Given the description of an element on the screen output the (x, y) to click on. 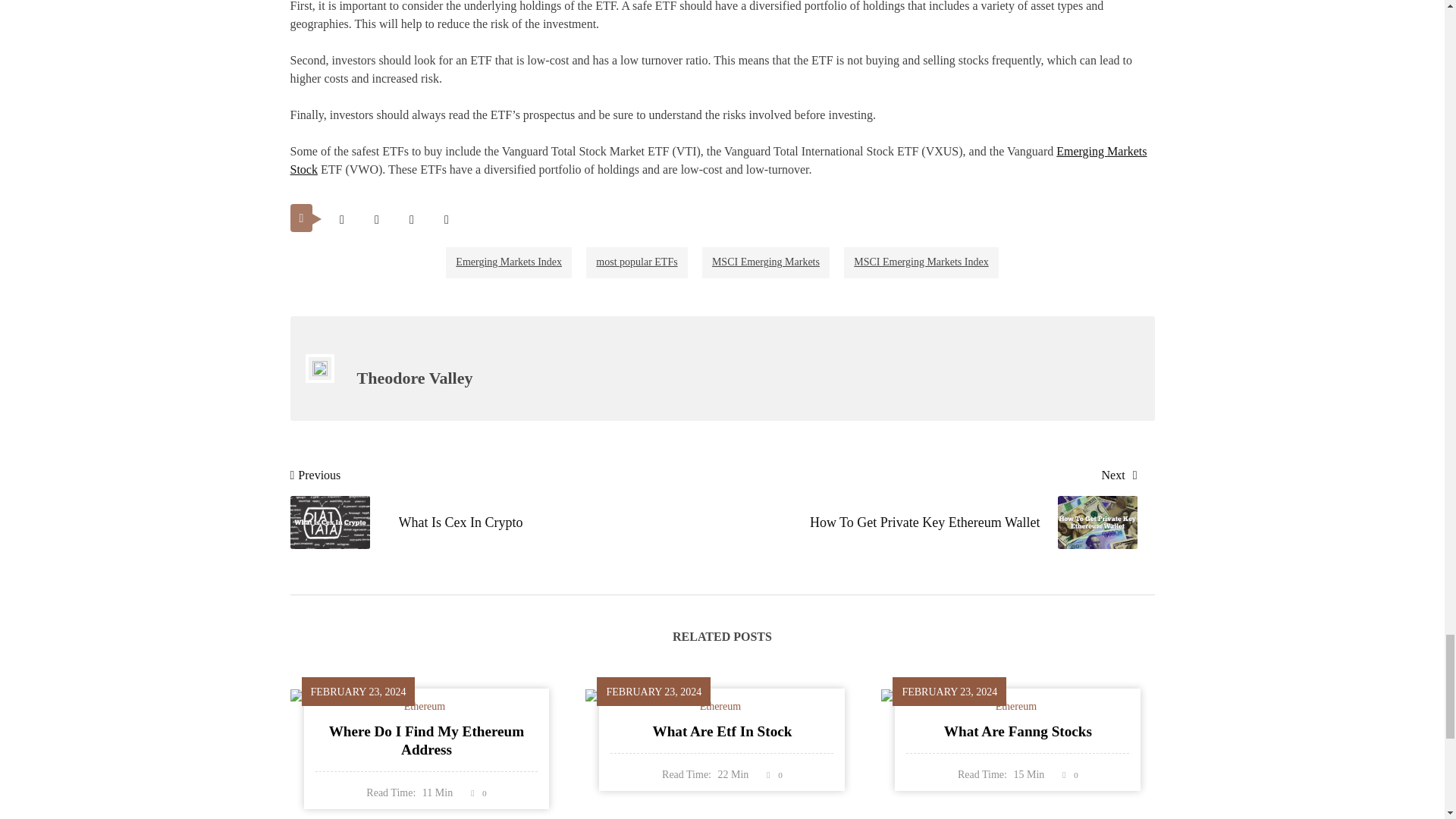
Share on Linkedin (446, 219)
Share on Facebook (376, 219)
Share on Pinterest (411, 219)
Tweet This! (342, 219)
